Given the description of an element on the screen output the (x, y) to click on. 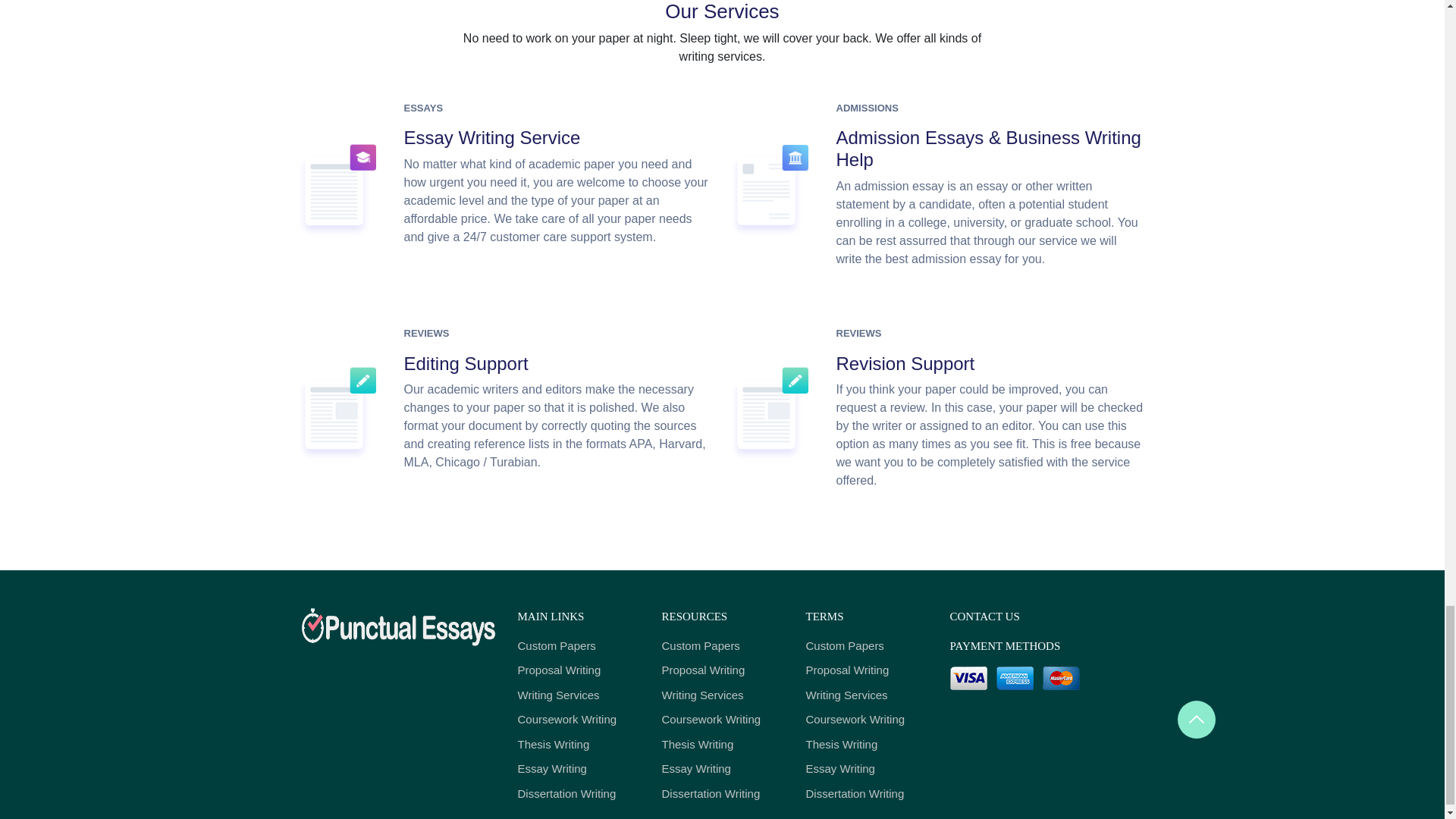
Dissertation Writing (577, 794)
Proposal Writing (577, 670)
Coursework Writing (577, 719)
Custom Papers (722, 646)
Custom Papers (577, 646)
Thesis Writing (577, 744)
Writing Services (577, 695)
Essay Writing (577, 769)
